Given the description of an element on the screen output the (x, y) to click on. 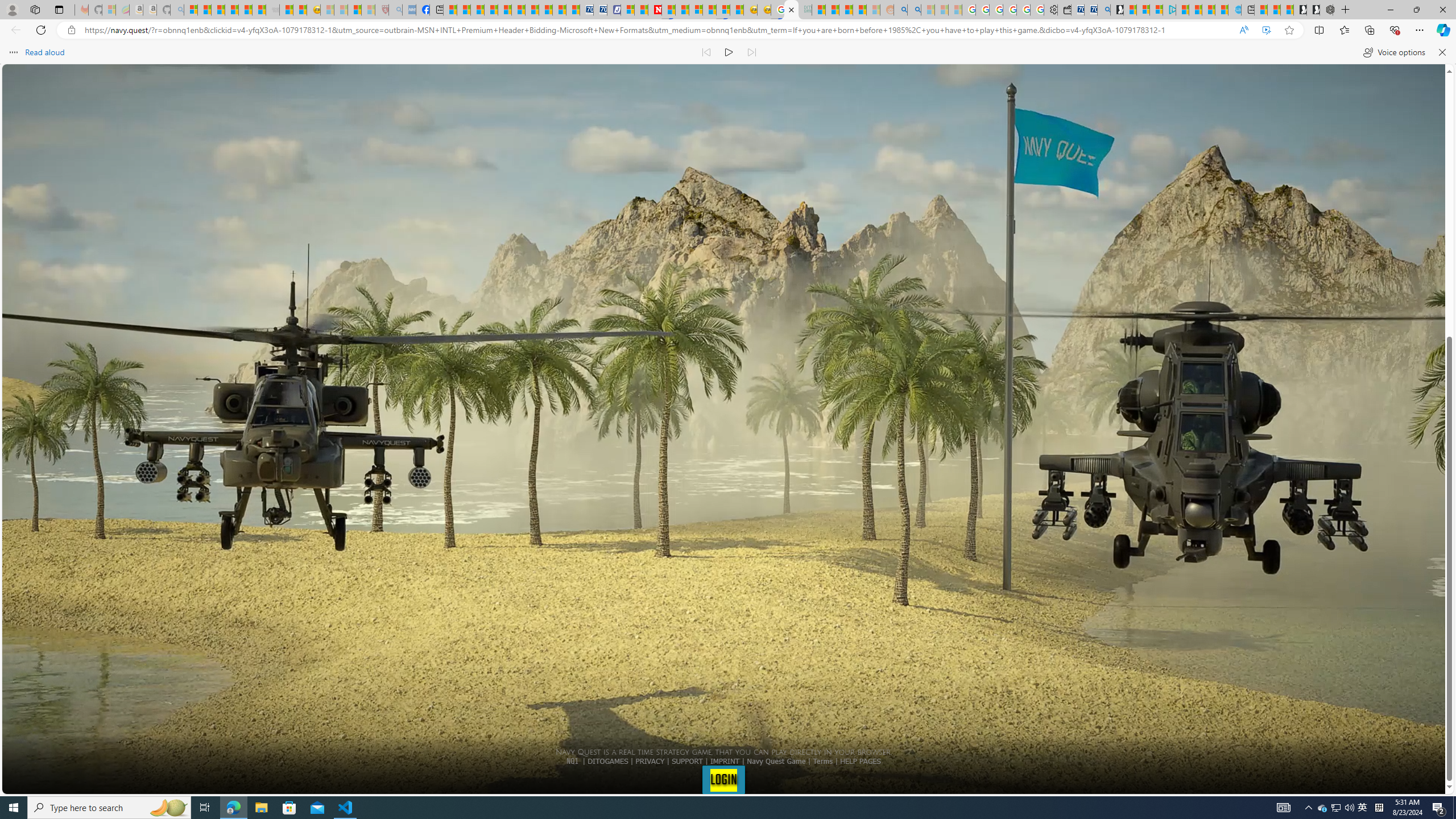
HELP PAGES (860, 760)
Read previous paragraph (705, 52)
Read next paragraph (750, 52)
